Given the description of an element on the screen output the (x, y) to click on. 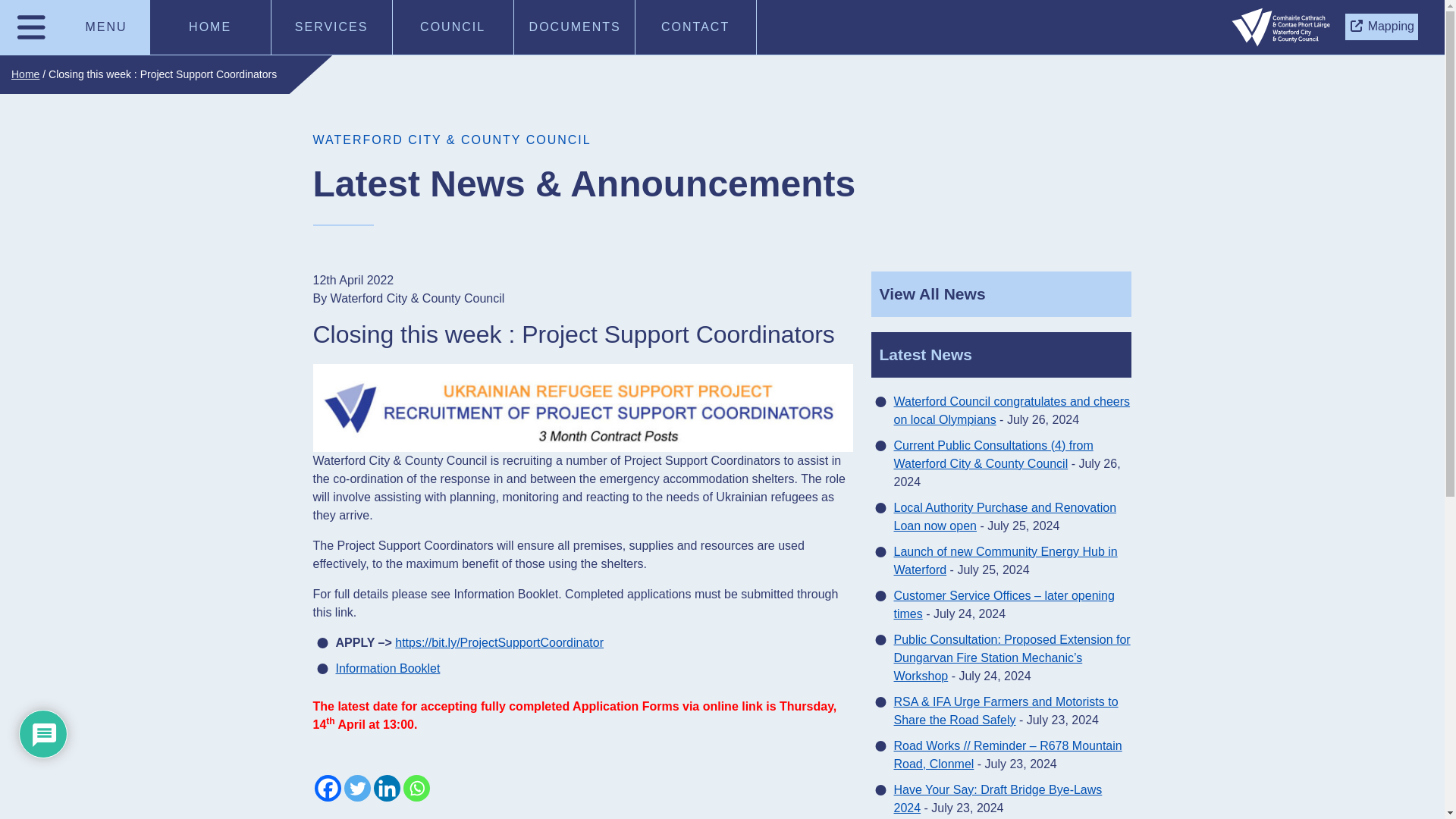
Whatsapp (416, 787)
Linkedin (385, 787)
Twitter (357, 787)
Facebook (327, 787)
Information Booklet (386, 669)
